Given the description of an element on the screen output the (x, y) to click on. 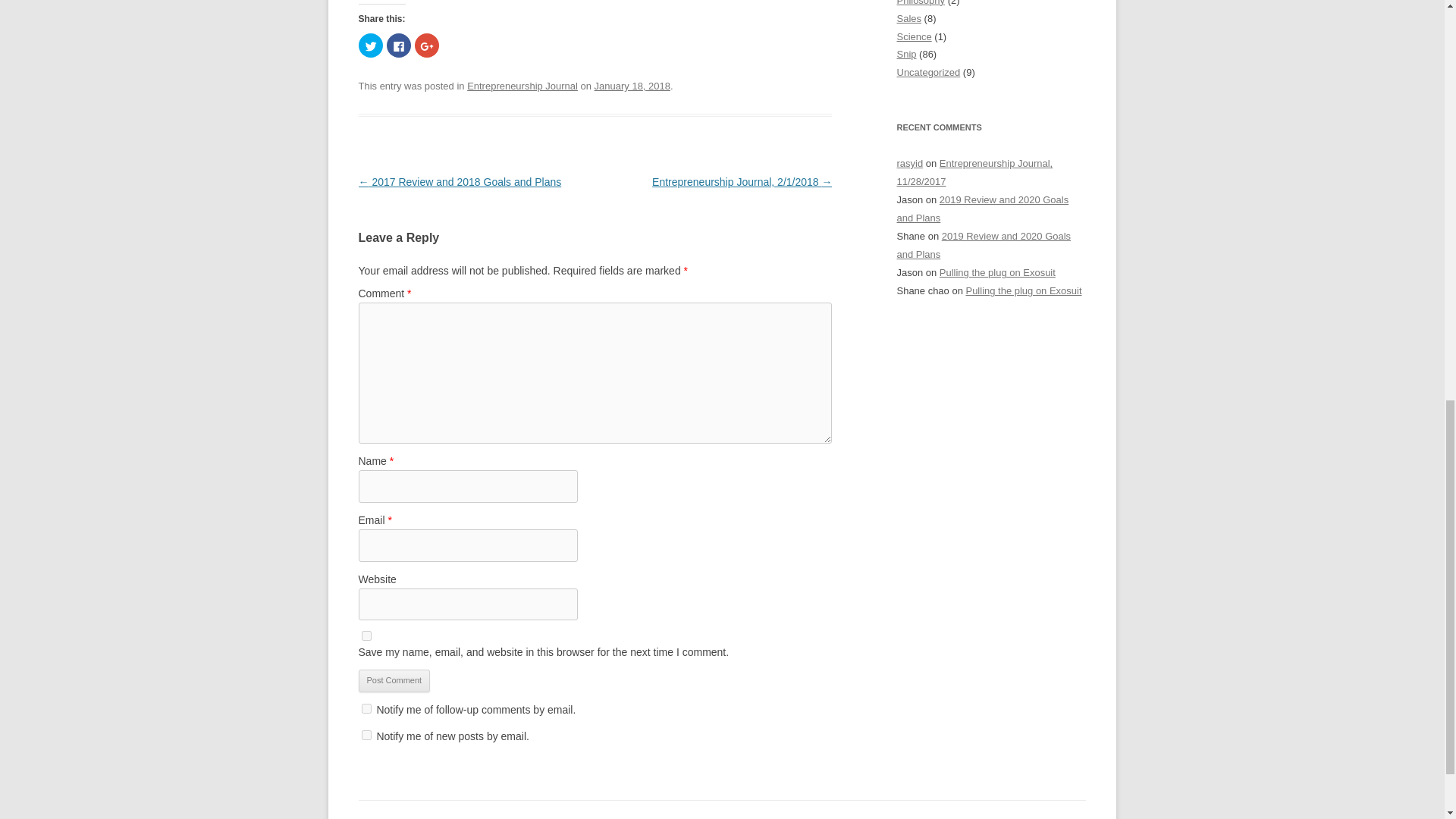
Post Comment (393, 680)
January 18, 2018 (631, 85)
subscribe (366, 708)
Post Comment (393, 680)
Click to share on Facebook (398, 45)
Entrepreneurship Journal (522, 85)
4:40 pm (631, 85)
yes (366, 635)
Click to share on Twitter (369, 45)
subscribe (366, 735)
